Given the description of an element on the screen output the (x, y) to click on. 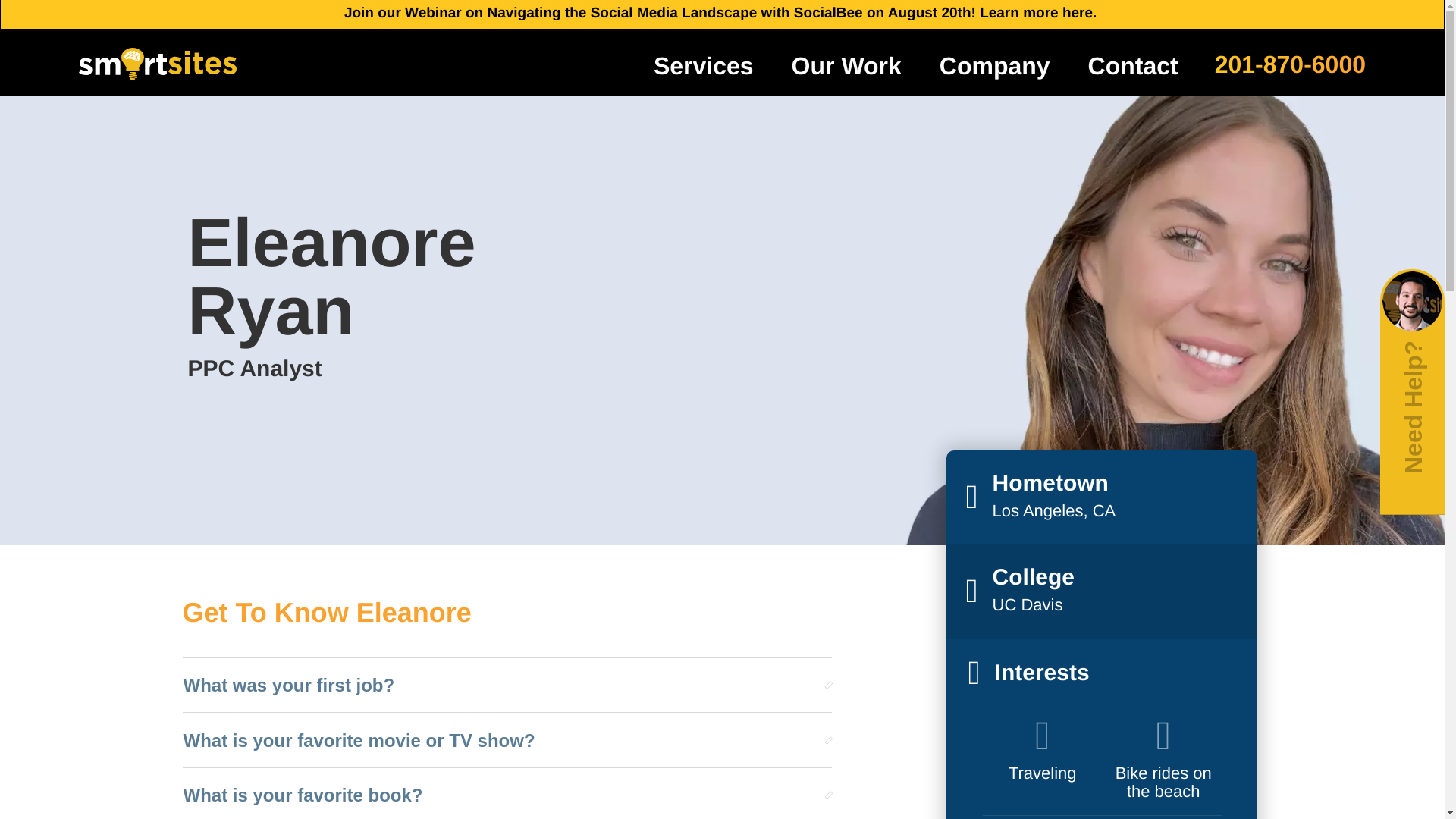
What was your first job? (500, 685)
Our Work (846, 65)
What is your favorite book? (500, 795)
Contact (1133, 65)
201-870-6000 (1289, 62)
Services (703, 65)
Company (995, 65)
What is your favorite movie or TV show? (500, 740)
